Given the description of an element on the screen output the (x, y) to click on. 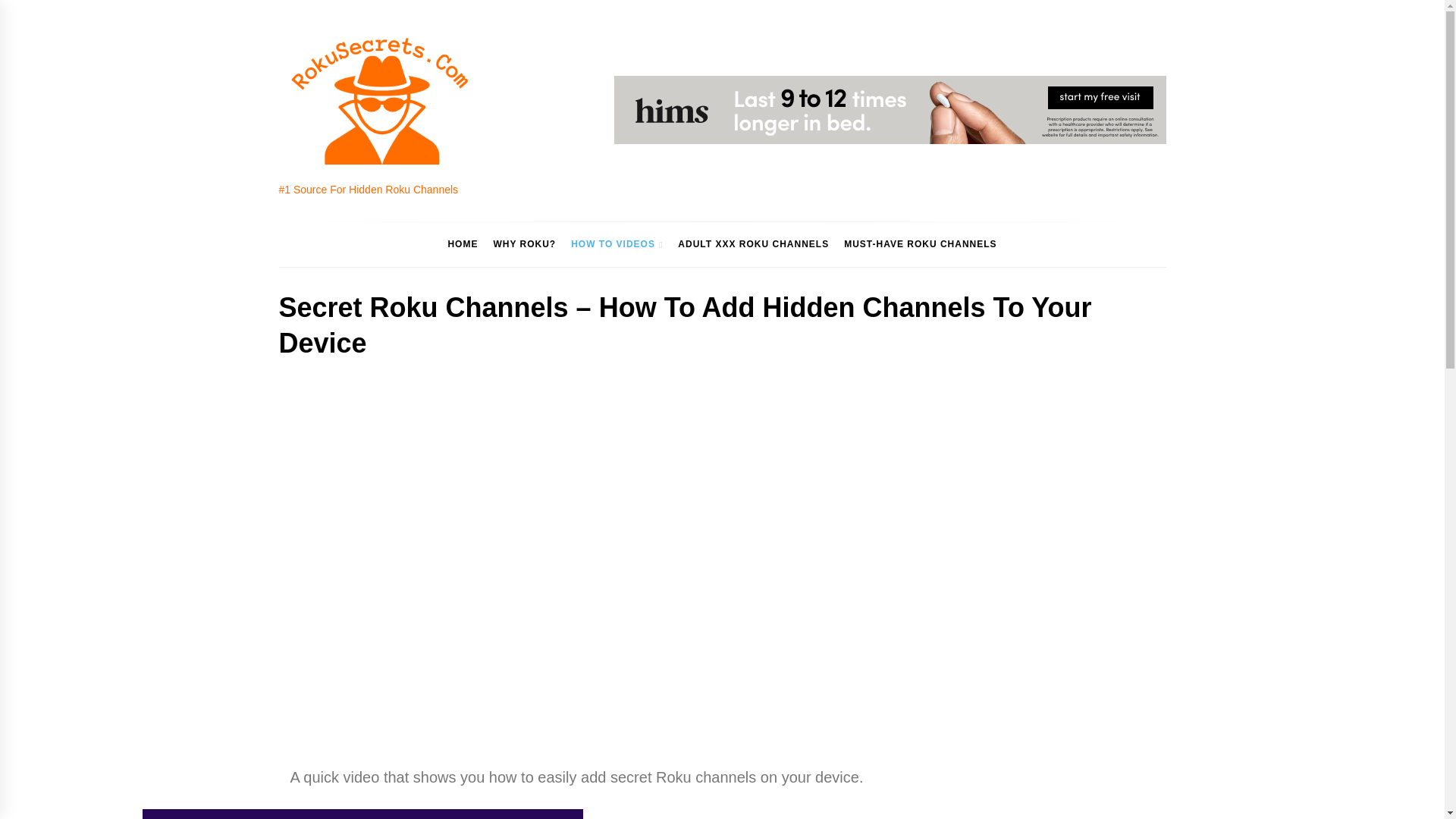
Header Banner (890, 110)
MUST-HAVE ROKU CHANNELS (919, 243)
HOME (461, 243)
ADULT XXX ROKU CHANNELS (752, 243)
WHY ROKU? (523, 243)
HOW TO VIDEOS (616, 243)
